Given the description of an element on the screen output the (x, y) to click on. 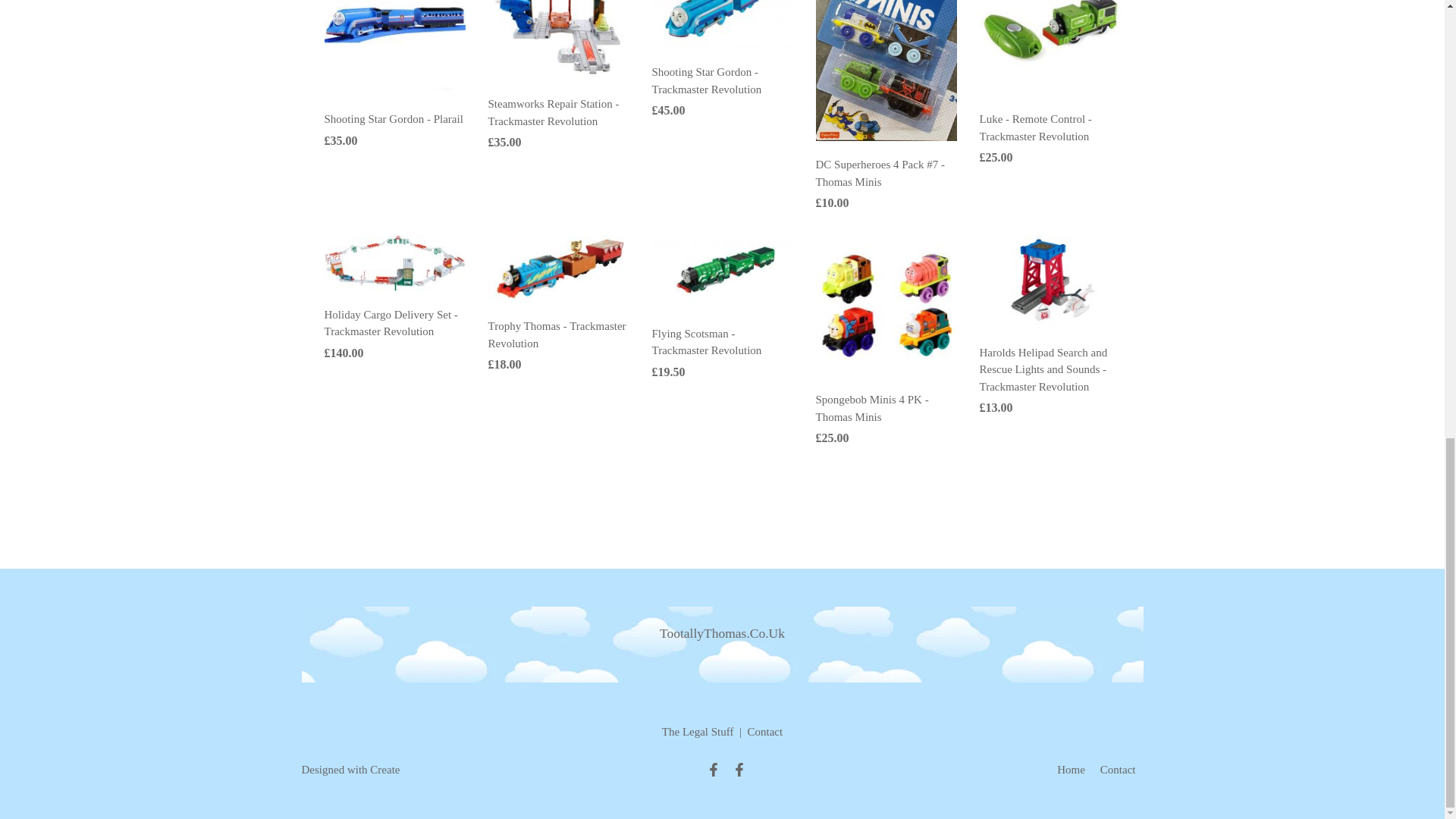
Flying Scotsman - Trackmaster Revolution (706, 342)
Trophy Thomas - Trackmaster Revolution  (556, 334)
        Spongebob Minis 4 PK - Thomas Minis  (885, 304)
Holiday Cargo Delivery Set - Trackmaster Revolution (391, 323)
Steamworks Repair Station - Trackmaster Revolution (557, 16)
Trophy Thomas - Trackmaster Revolution  (557, 267)
Holiday Cargo Delivery Set - Trackmaster Revolution (394, 261)
Flying Scotsman - Trackmaster Revolution (722, 271)
Shooting Star Gordon - Plarail (394, 24)
Steamworks Repair Station - Trackmaster Revolution (553, 112)
Shooting Star Gordon - Plarail (393, 119)
Luke - Remote Control - Trackmaster Revolution (1050, 24)
Shooting Star Gordon - Trackmaster Revolution  (722, 3)
        Spongebob Minis 4 PK - Thomas Minis  (871, 408)
Shooting Star Gordon - Trackmaster Revolution  (706, 80)
